Given the description of an element on the screen output the (x, y) to click on. 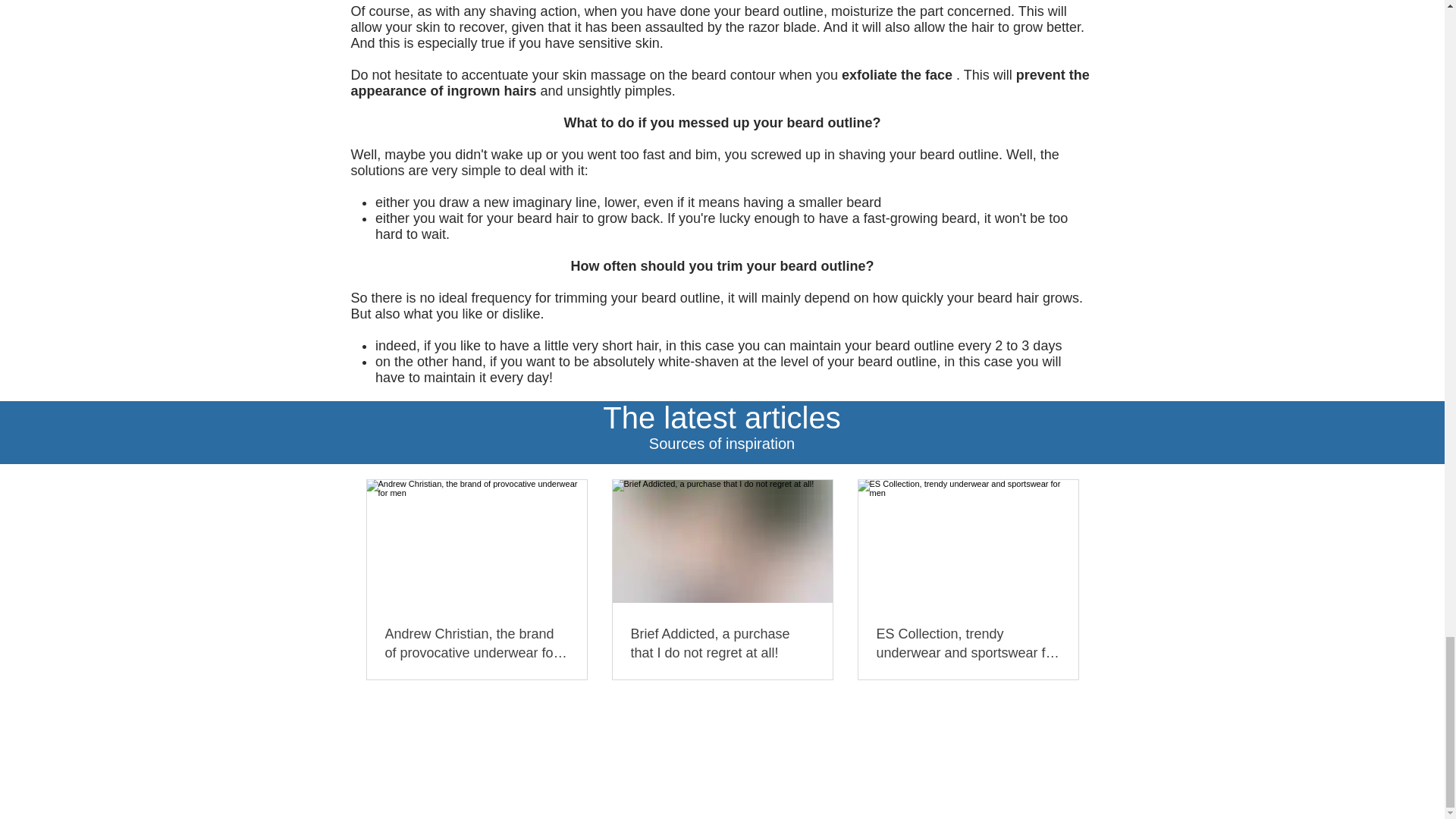
Partnership (569, 721)
Contact (631, 721)
blog - Beard blog (742, 721)
Legal notice (831, 721)
ES Collection, trendy underwear and sportswear for men (967, 643)
About (514, 721)
Brief Addicted, a purchase that I do not regret at all! (721, 643)
Privacy policy (911, 721)
Andrew Christian, the brand of provocative underwear for men (477, 643)
prevent the appearance of ingrown hairs (719, 82)
